Given the description of an element on the screen output the (x, y) to click on. 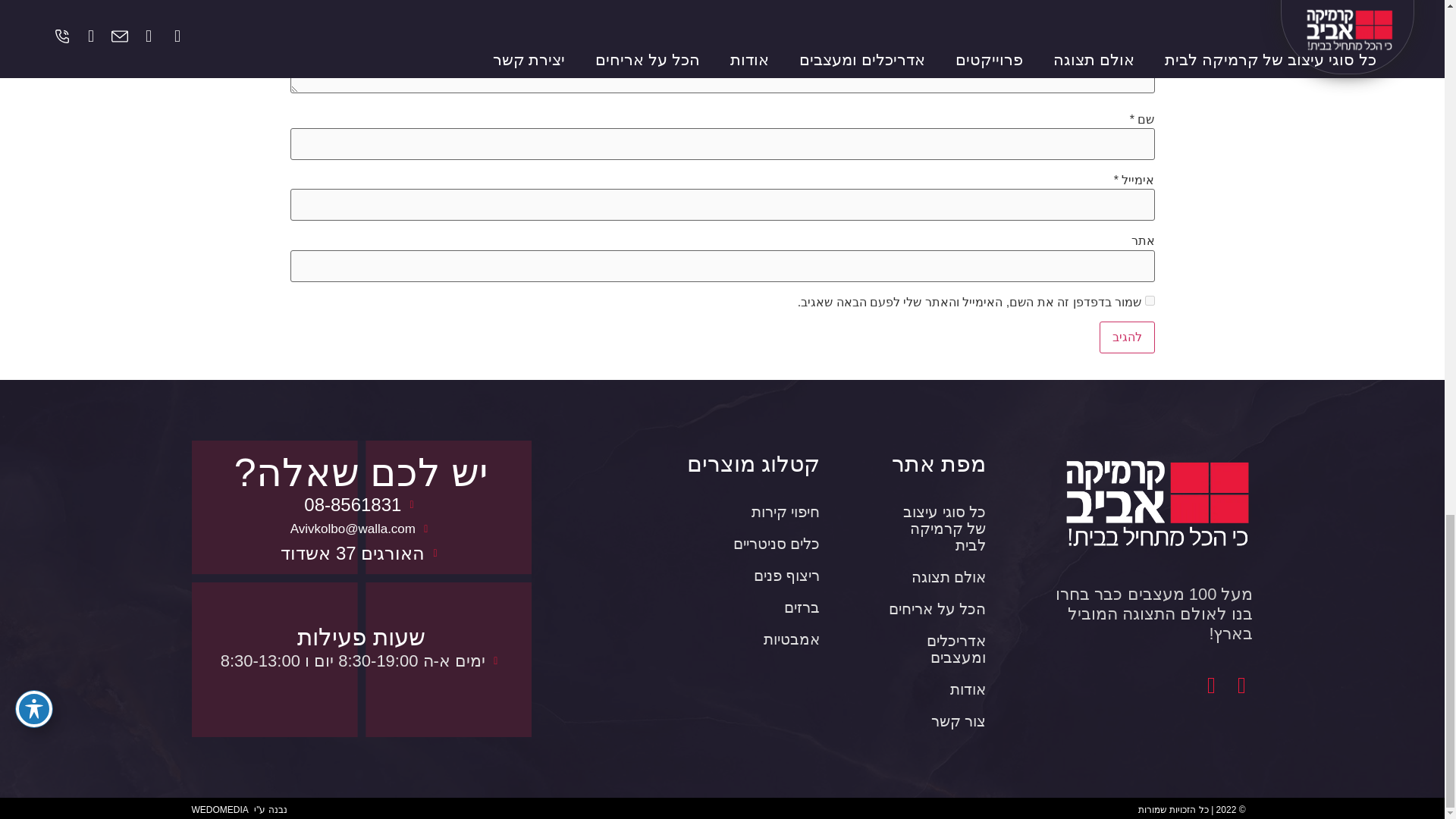
yes (1149, 300)
